Given the description of an element on the screen output the (x, y) to click on. 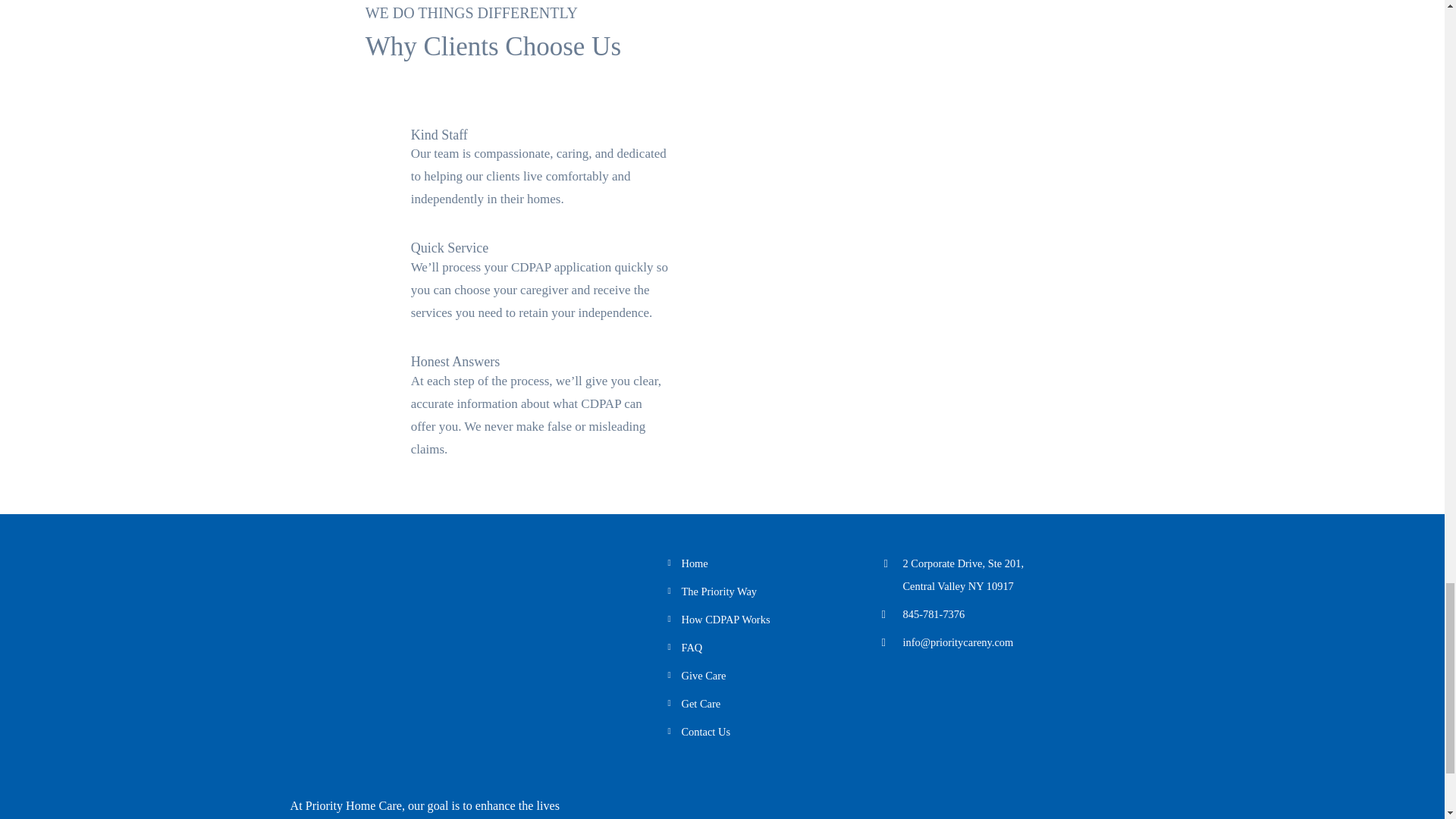
Contact Us (705, 731)
Give Care (703, 675)
The Priority Way (719, 591)
845-781-7376 (932, 613)
How CDPAP Works (725, 619)
Get Care (962, 574)
Home (700, 703)
FAQ (694, 563)
